Given the description of an element on the screen output the (x, y) to click on. 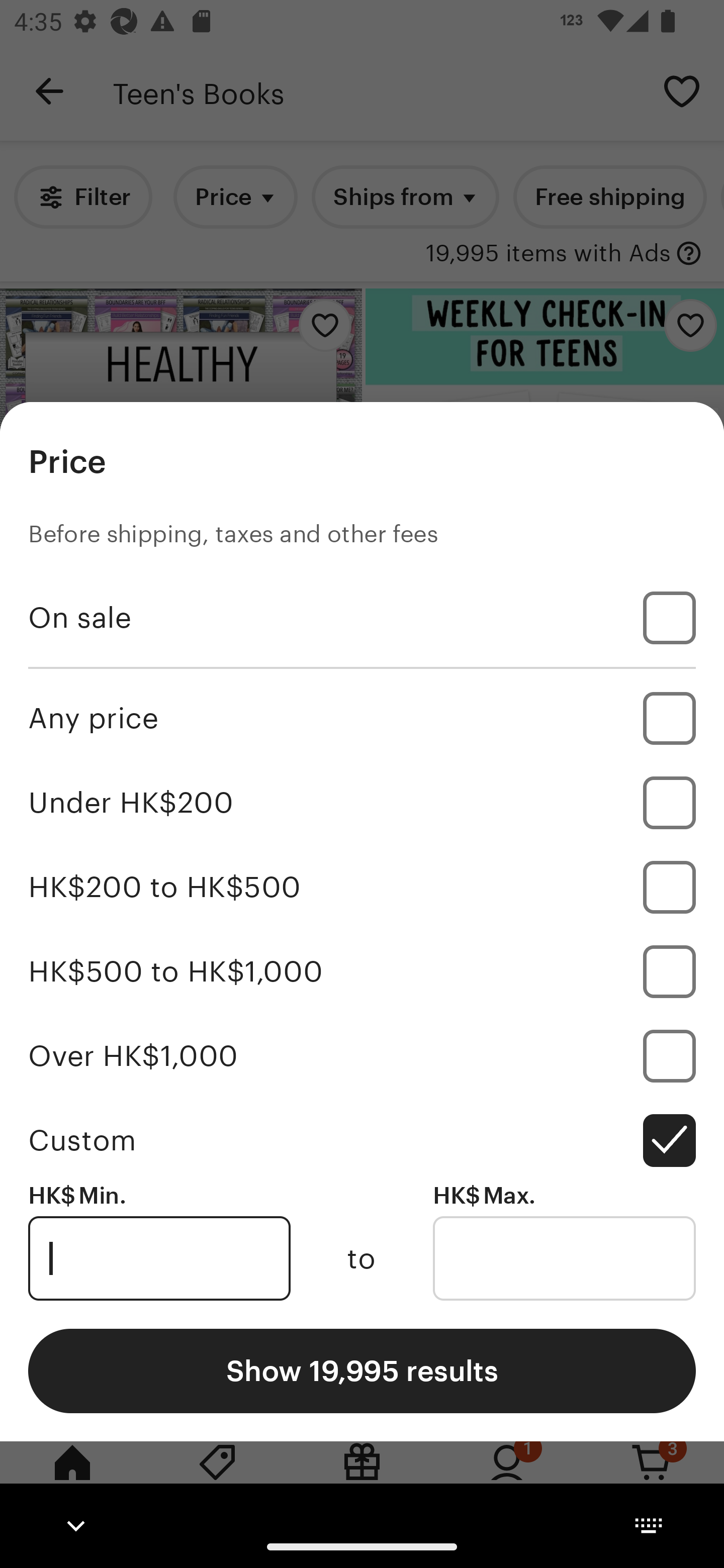
On sale (362, 617)
Any price (362, 717)
Under HK$200 (362, 802)
HK$200 to HK$500 (362, 887)
HK$500 to HK$1,000 (362, 970)
Over HK$1,000 (362, 1054)
Custom (362, 1139)
Show 19,995 results (361, 1370)
